Given the description of an element on the screen output the (x, y) to click on. 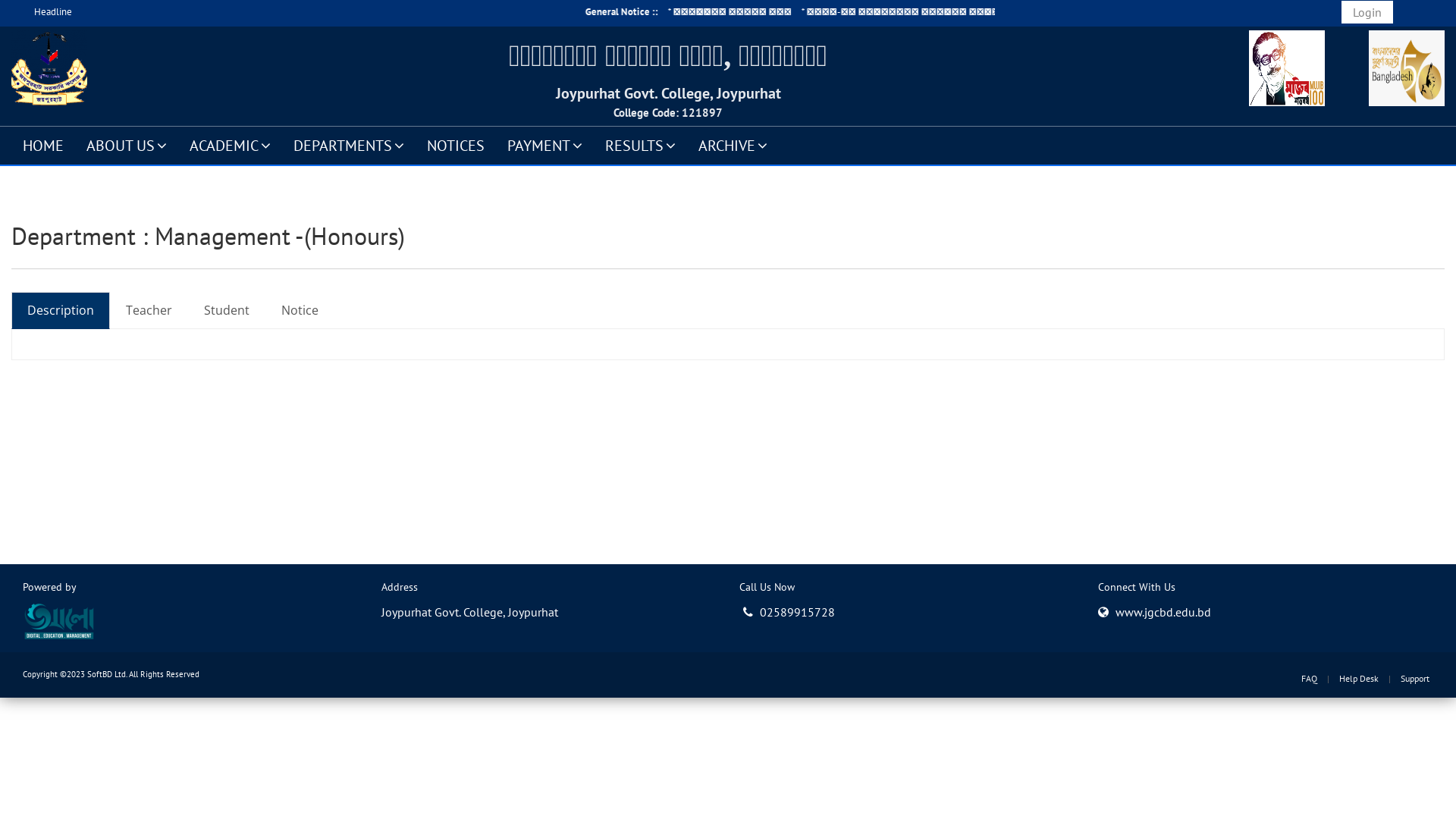
FAQ Element type: text (1309, 677)
Description Element type: text (60, 310)
|| Element type: text (818, 11)
Support Element type: text (1414, 677)
Login Element type: text (1367, 11)
ABOUT US Element type: text (126, 144)
SoftBD Ltd. Element type: text (106, 673)
Notice Element type: text (299, 310)
Teacher Element type: text (148, 310)
Departmental Notice :: Element type: text (879, 11)
Help Desk Element type: text (1358, 677)
RESULTS Element type: text (640, 144)
NOTICES Element type: text (455, 144)
DEPARTMENTS Element type: text (348, 144)
ARCHIVE Element type: text (732, 144)
www.jgcbd.edu.bd Element type: text (1162, 610)
02589915728 Element type: text (788, 610)
ACADEMIC Element type: text (230, 144)
* RFQ For College Management Information System (CMIS) Element type: text (175, 11)
PAYMENT Element type: text (544, 144)
Student Element type: text (226, 310)
HOME Element type: text (43, 144)
